Given the description of an element on the screen output the (x, y) to click on. 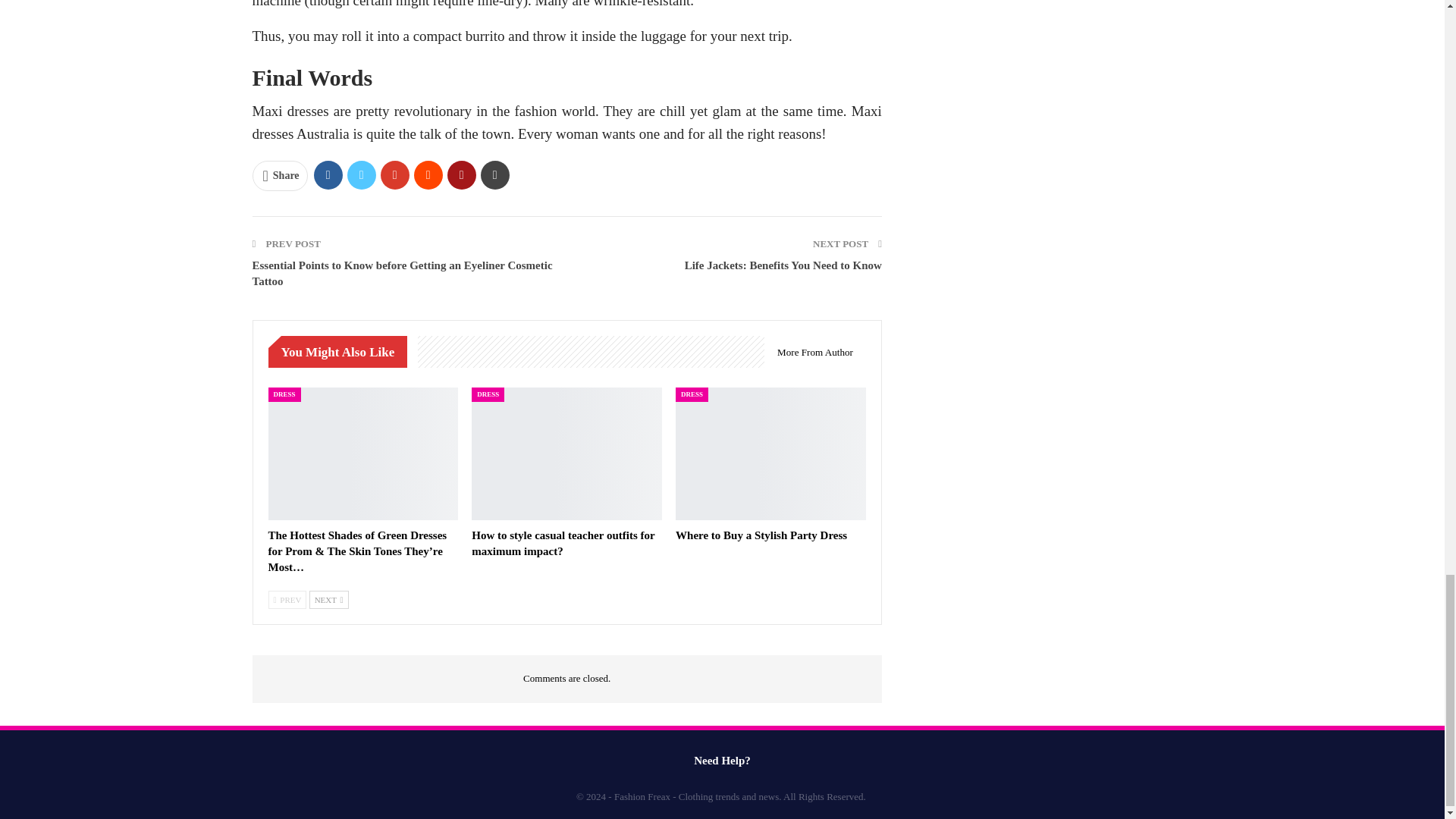
Previous (287, 599)
Next (328, 599)
How to style casual teacher outfits for maximum impact? (566, 453)
How to style casual teacher outfits for maximum impact? (562, 543)
Where to Buy a Stylish Party Dress (770, 453)
Where to Buy a Stylish Party Dress (761, 535)
